Given the description of an element on the screen output the (x, y) to click on. 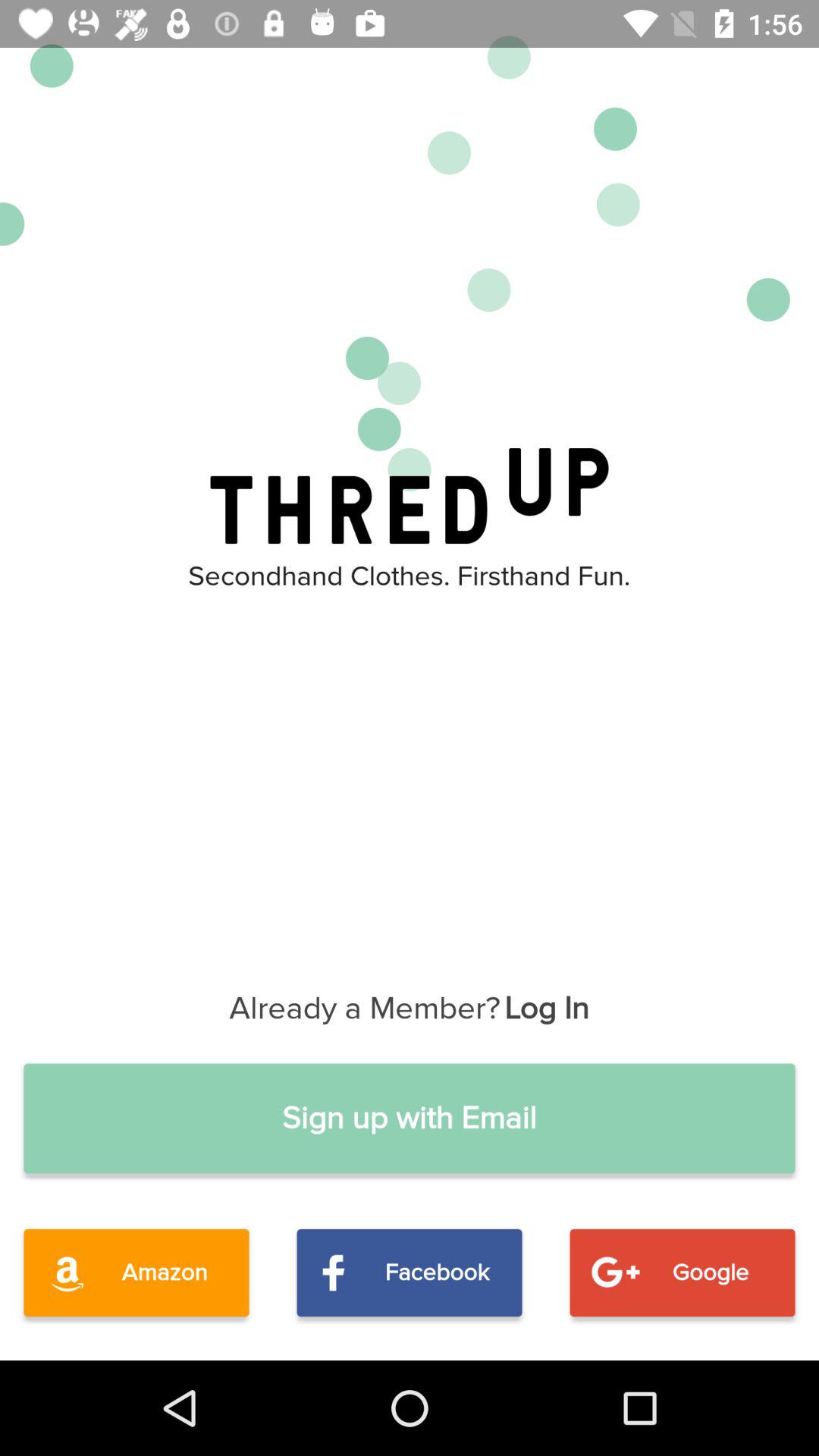
launch icon to the left of the google item (409, 1272)
